Given the description of an element on the screen output the (x, y) to click on. 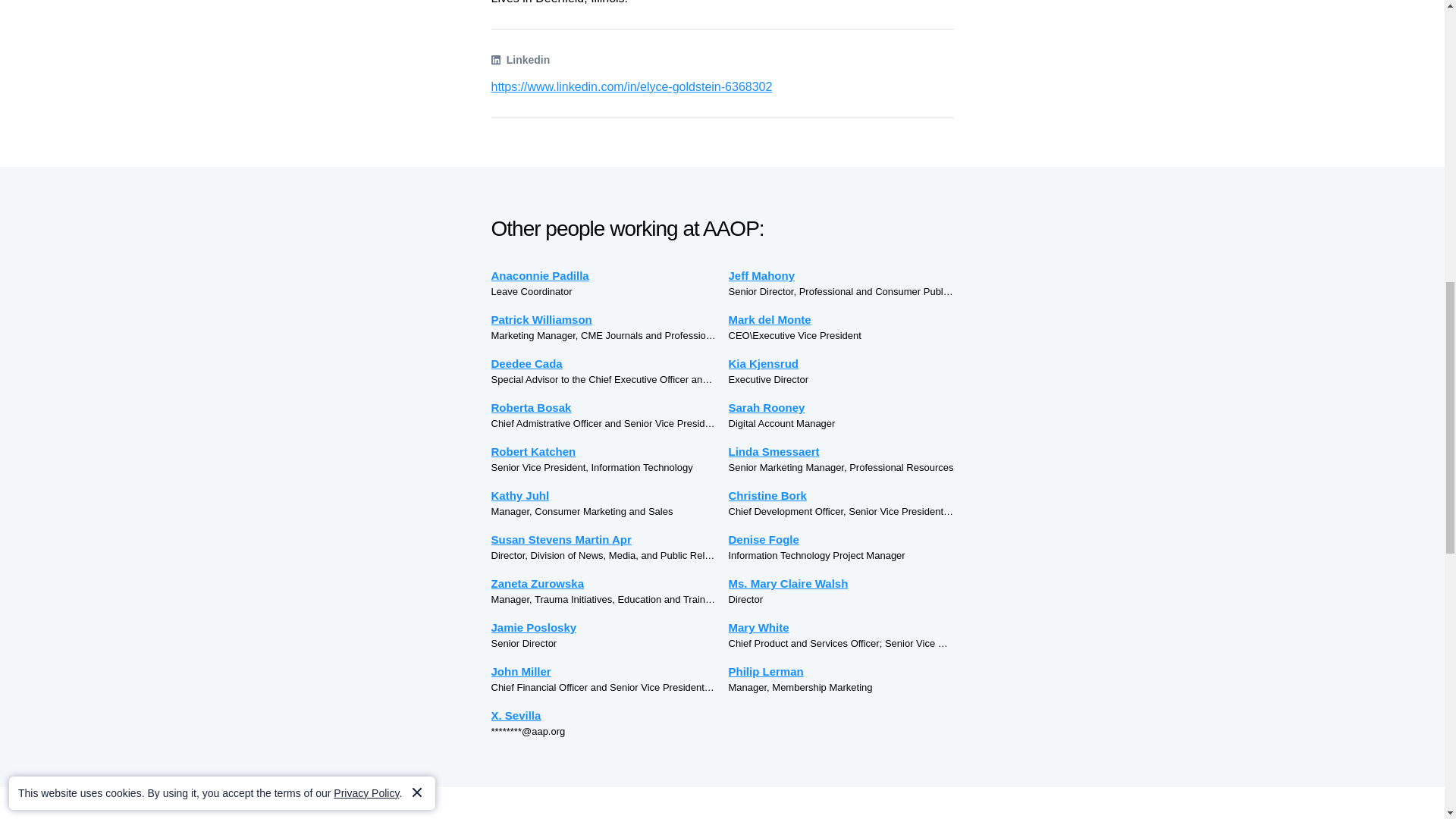
Deedee Cada (604, 363)
X. Sevilla (604, 714)
Patrick Williamson (604, 319)
John Miller (604, 671)
Philip Lerman (840, 671)
Jamie Poslosky (604, 627)
Denise Fogle (840, 538)
Anaconnie Padilla (604, 275)
Linda Smessaert (840, 451)
Robert Katchen (604, 451)
Mary White (840, 627)
Mark del Monte (840, 319)
Roberta Bosak (604, 407)
Jeff Mahony (840, 275)
Kia Kjensrud (840, 363)
